Given the description of an element on the screen output the (x, y) to click on. 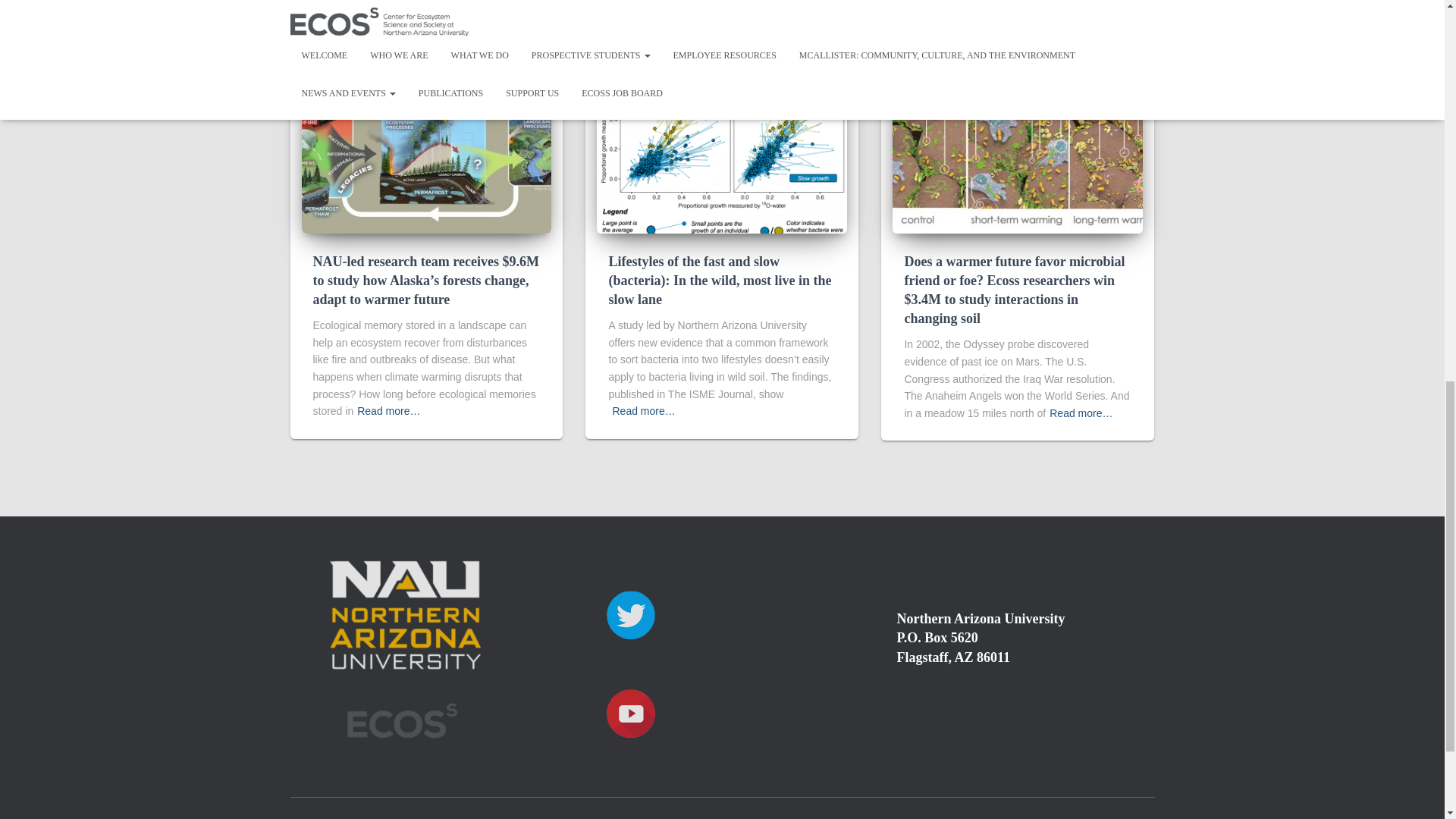
WELCOME (356, 816)
PROSPECTIVE STUDENTS (626, 816)
MCALLISTER: COMMUNITY, CULTURE, AND THE ENVIRONMENT (973, 816)
EMPLOYEE RESOURCES (757, 816)
WHAT WE DO (517, 816)
WHO WE ARE (433, 816)
